Given the description of an element on the screen output the (x, y) to click on. 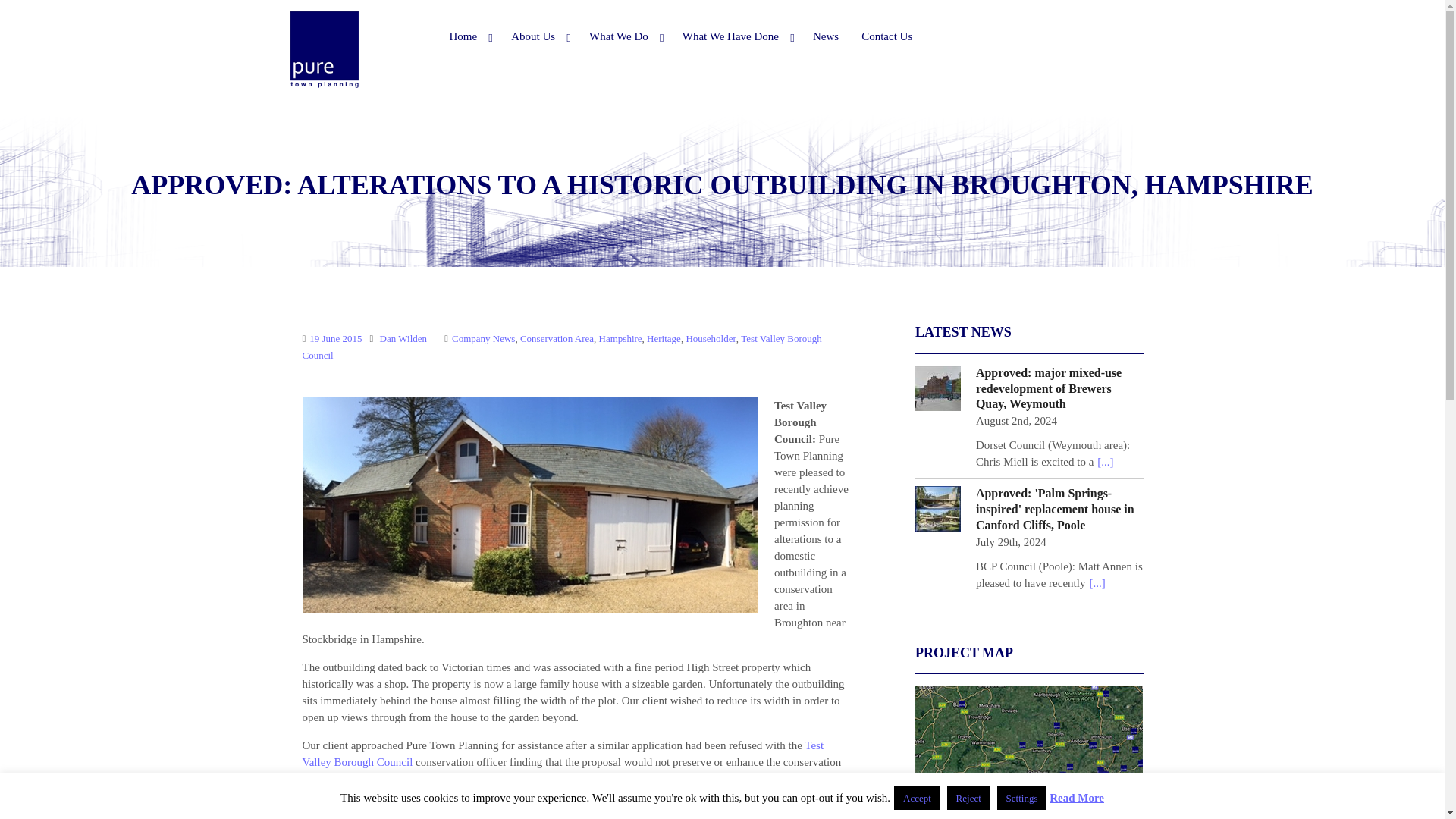
What We Do (624, 36)
19 June 2015 (334, 337)
News (826, 36)
Company News (483, 337)
Home (469, 36)
Dan Wilden (403, 337)
What We Have Done (736, 36)
